Given the description of an element on the screen output the (x, y) to click on. 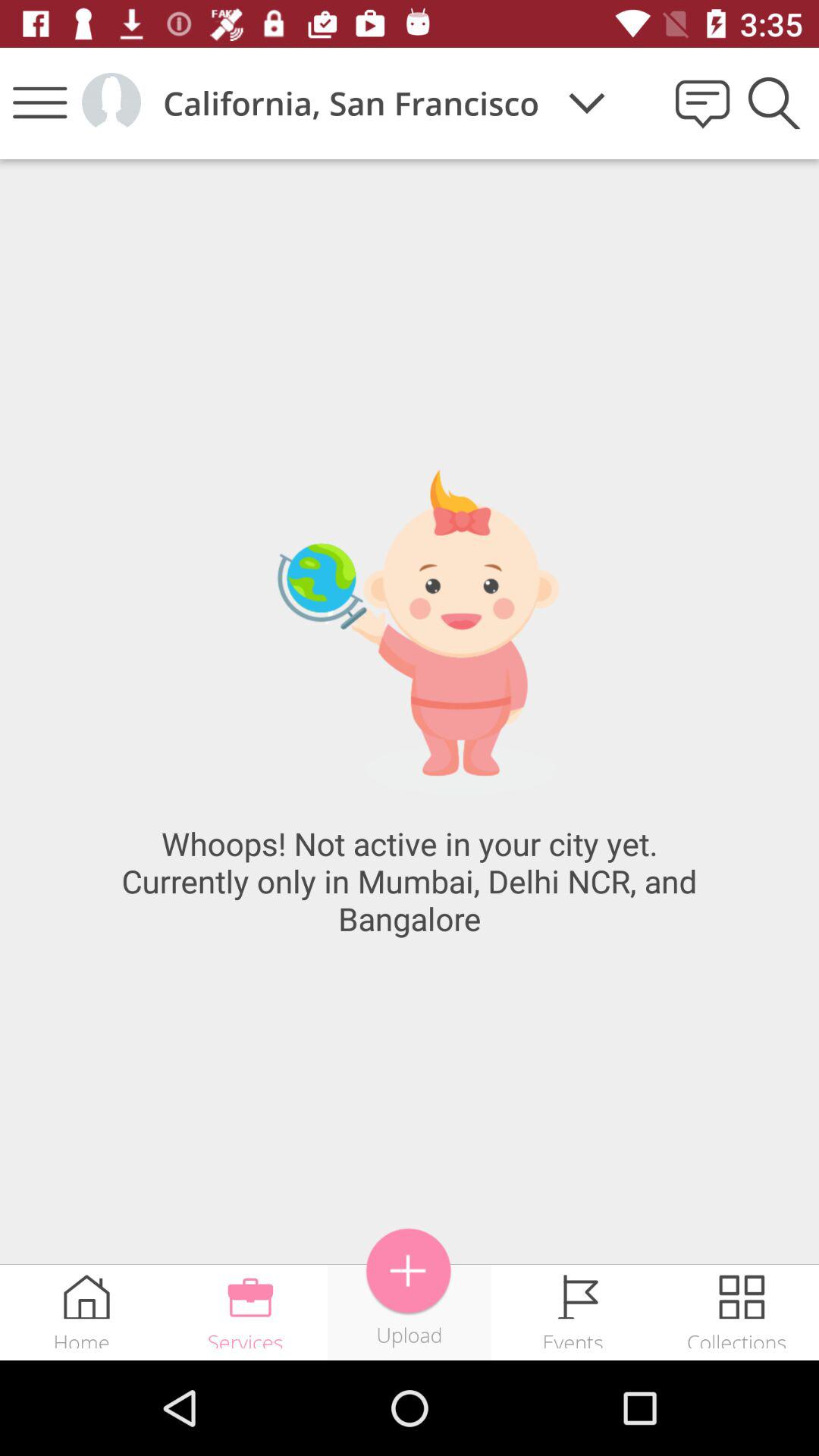
choose item below the whoops not active item (408, 1271)
